Given the description of an element on the screen output the (x, y) to click on. 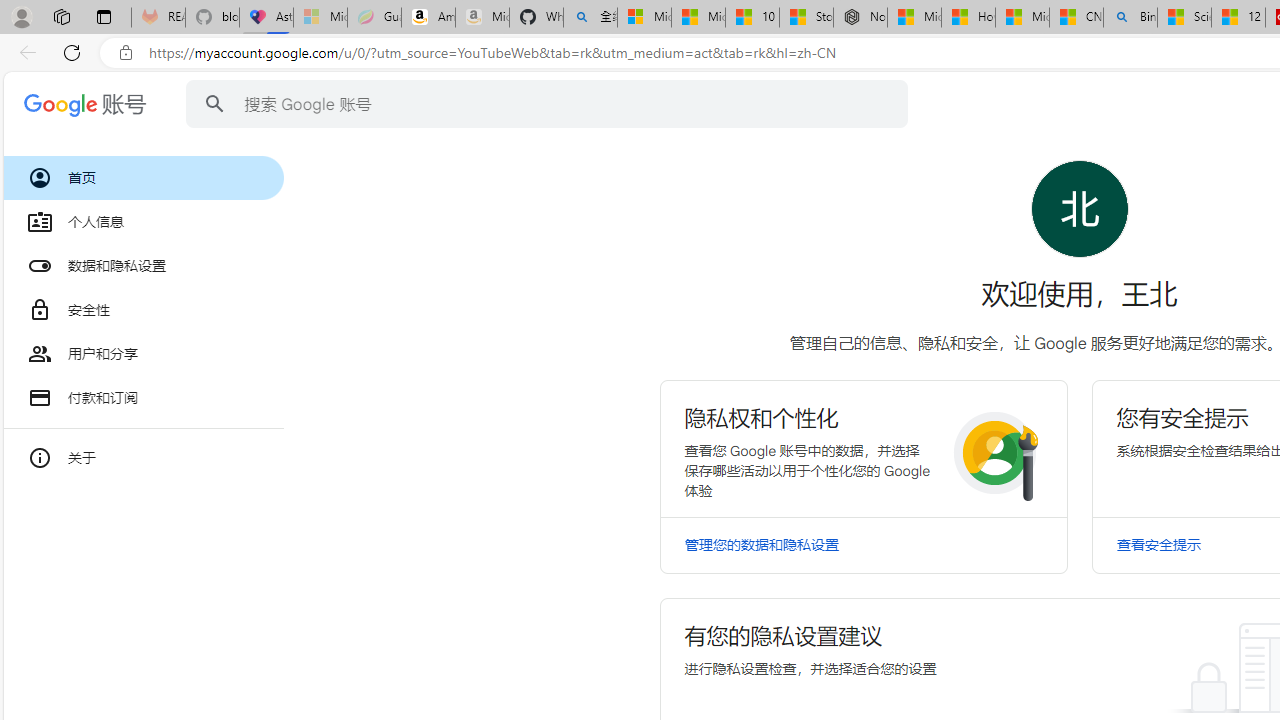
Bing (1130, 17)
